Given the description of an element on the screen output the (x, y) to click on. 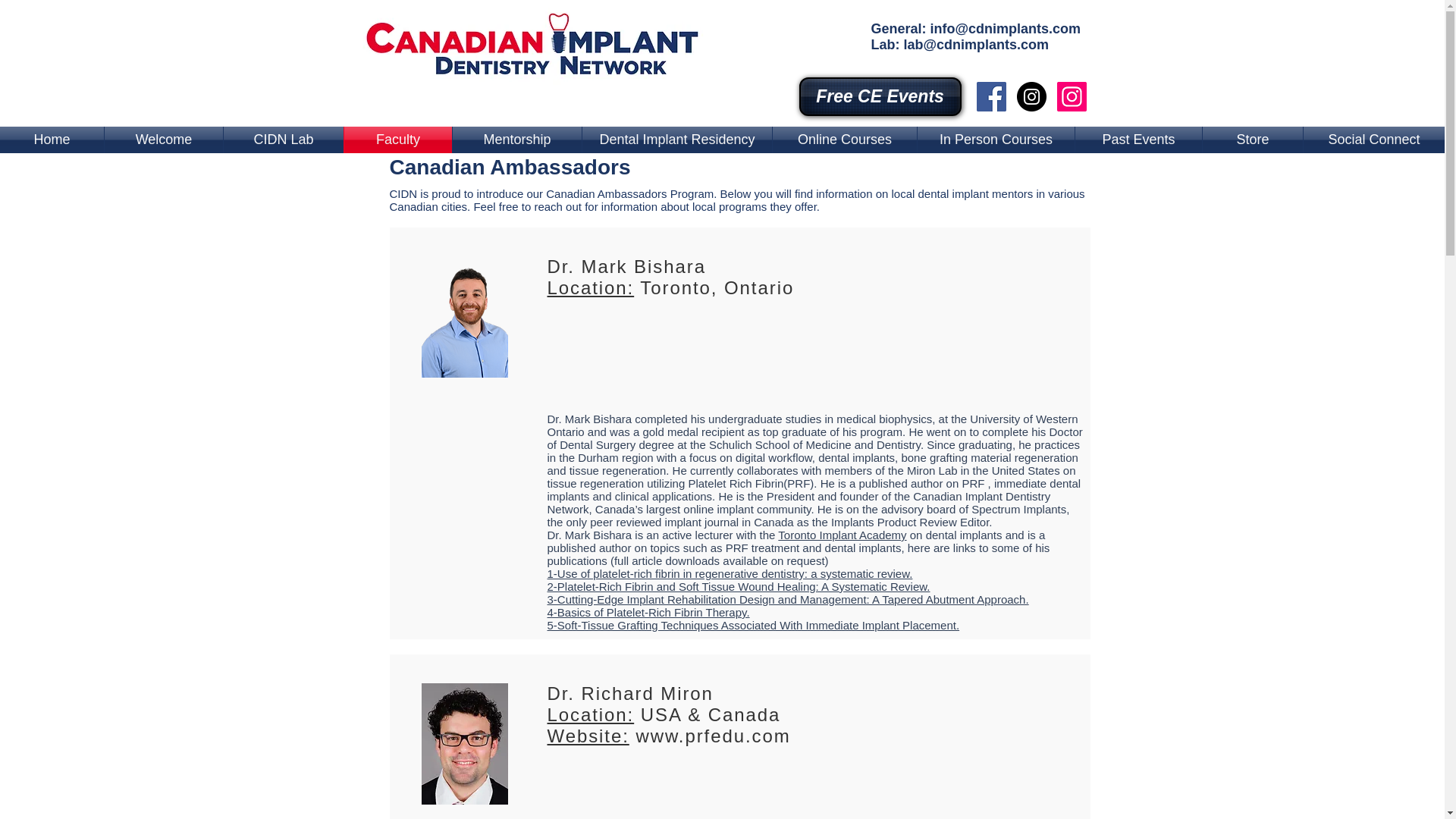
Dental Implant Residency (676, 139)
Lab (882, 44)
Welcome (163, 139)
Free CE Events (879, 96)
Past Events (1138, 139)
Faculty (397, 139)
Home (51, 139)
